Given the description of an element on the screen output the (x, y) to click on. 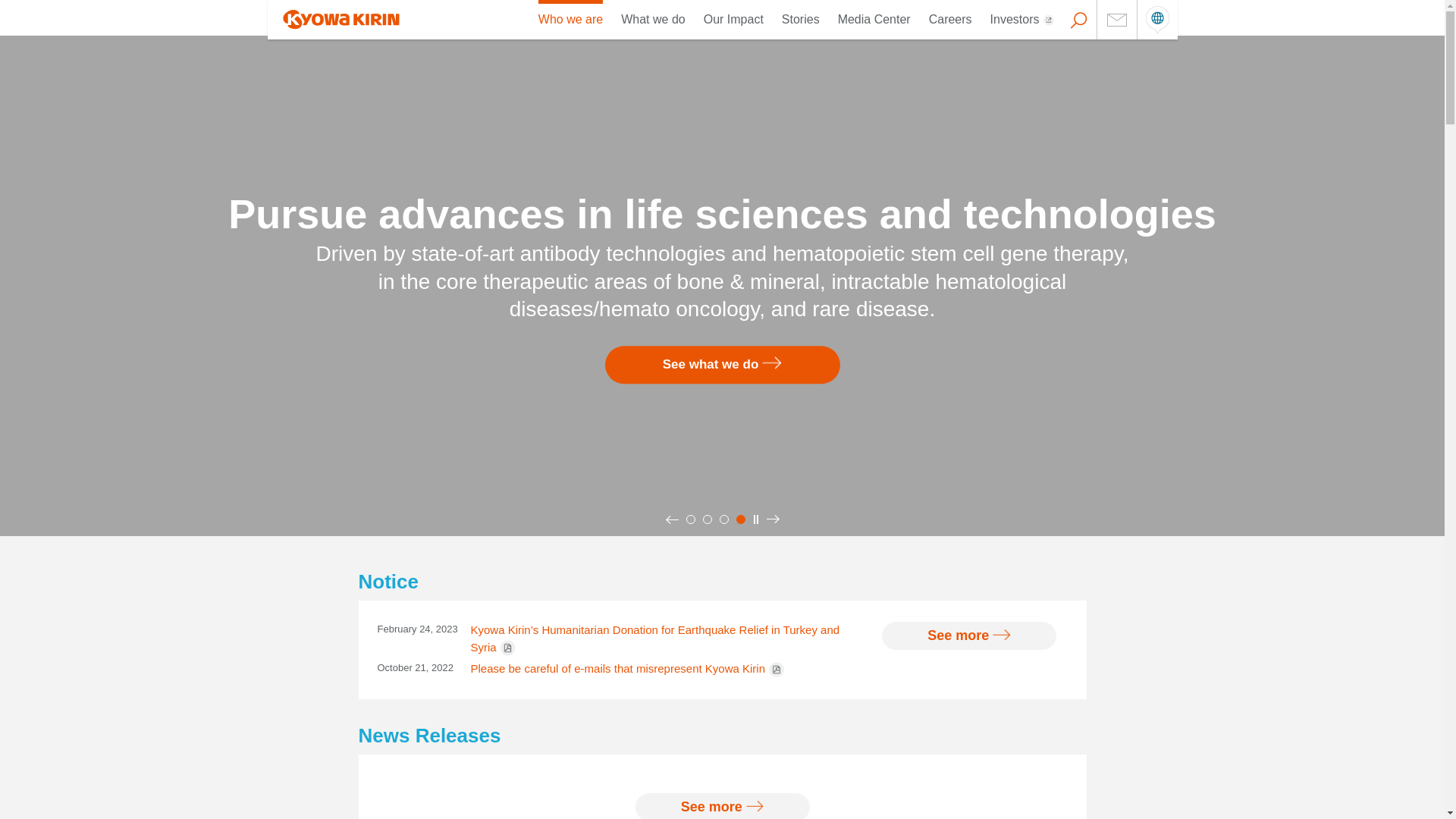
Search (8, 8)
Investors (1022, 19)
What we do (652, 19)
Stories (800, 19)
Who we are (570, 19)
Media Center (874, 19)
Careers (950, 19)
open menu (1157, 19)
Our Impact (732, 19)
